Given the description of an element on the screen output the (x, y) to click on. 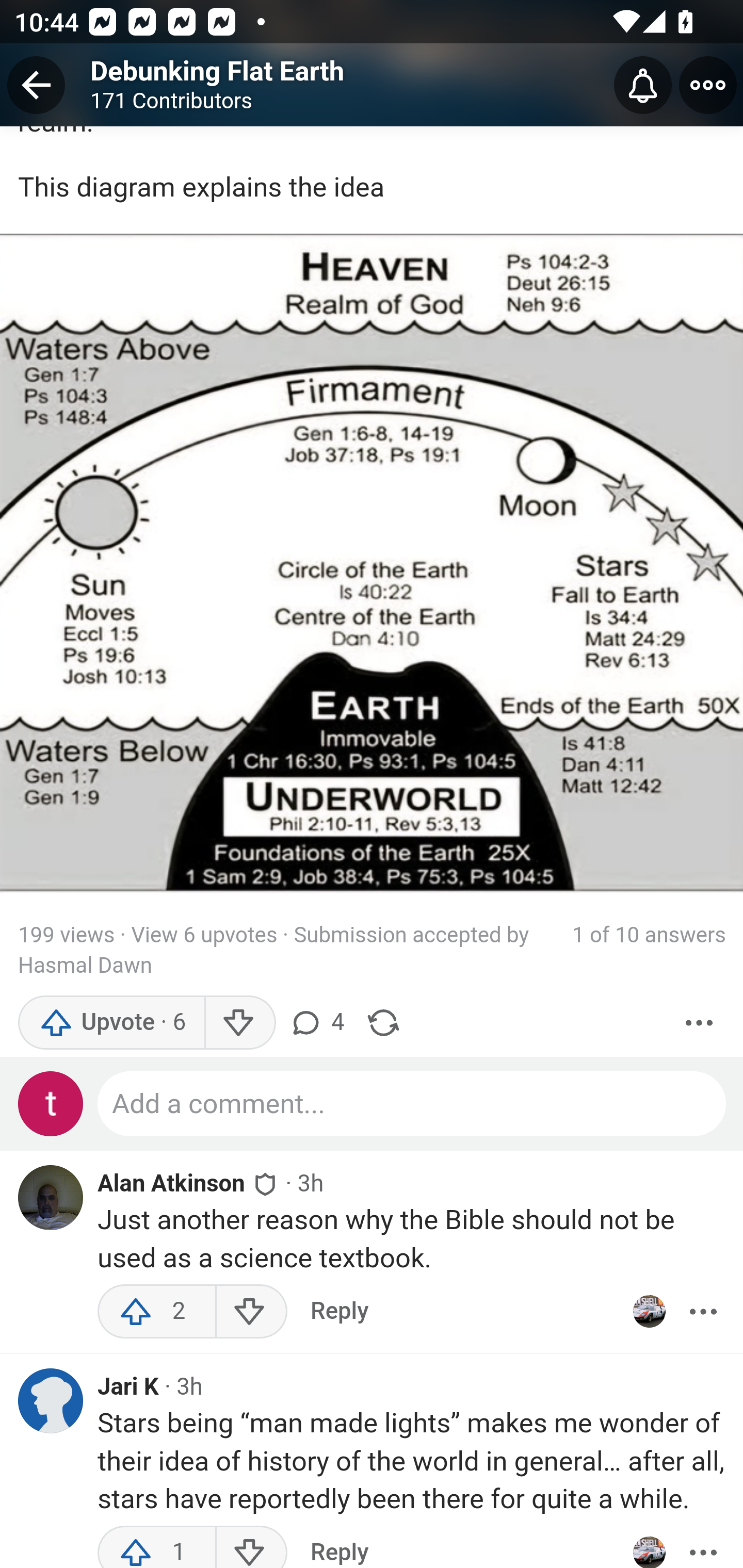
Me Notifications Search (371, 82)
View 6 upvotes (203, 936)
1 of 10 answers (648, 951)
Hasmal Dawn (85, 967)
Profile photo for Test Appium (50, 1105)
Add a comment... (412, 1105)
Profile photo for Alan Atkinson (50, 1199)
Alan Atkinson (171, 1186)
3h 3 h (310, 1184)
2 upvotes (156, 1312)
Downvote (250, 1312)
Reply (338, 1312)
Profile photo for A.K (648, 1312)
More (703, 1312)
Profile photo for Jari K (50, 1402)
Jari K (128, 1389)
3h 3 h (188, 1387)
1 upvote (156, 1546)
Downvote (250, 1546)
Reply (338, 1546)
Profile photo for A.K (648, 1546)
More (703, 1546)
